Given the description of an element on the screen output the (x, y) to click on. 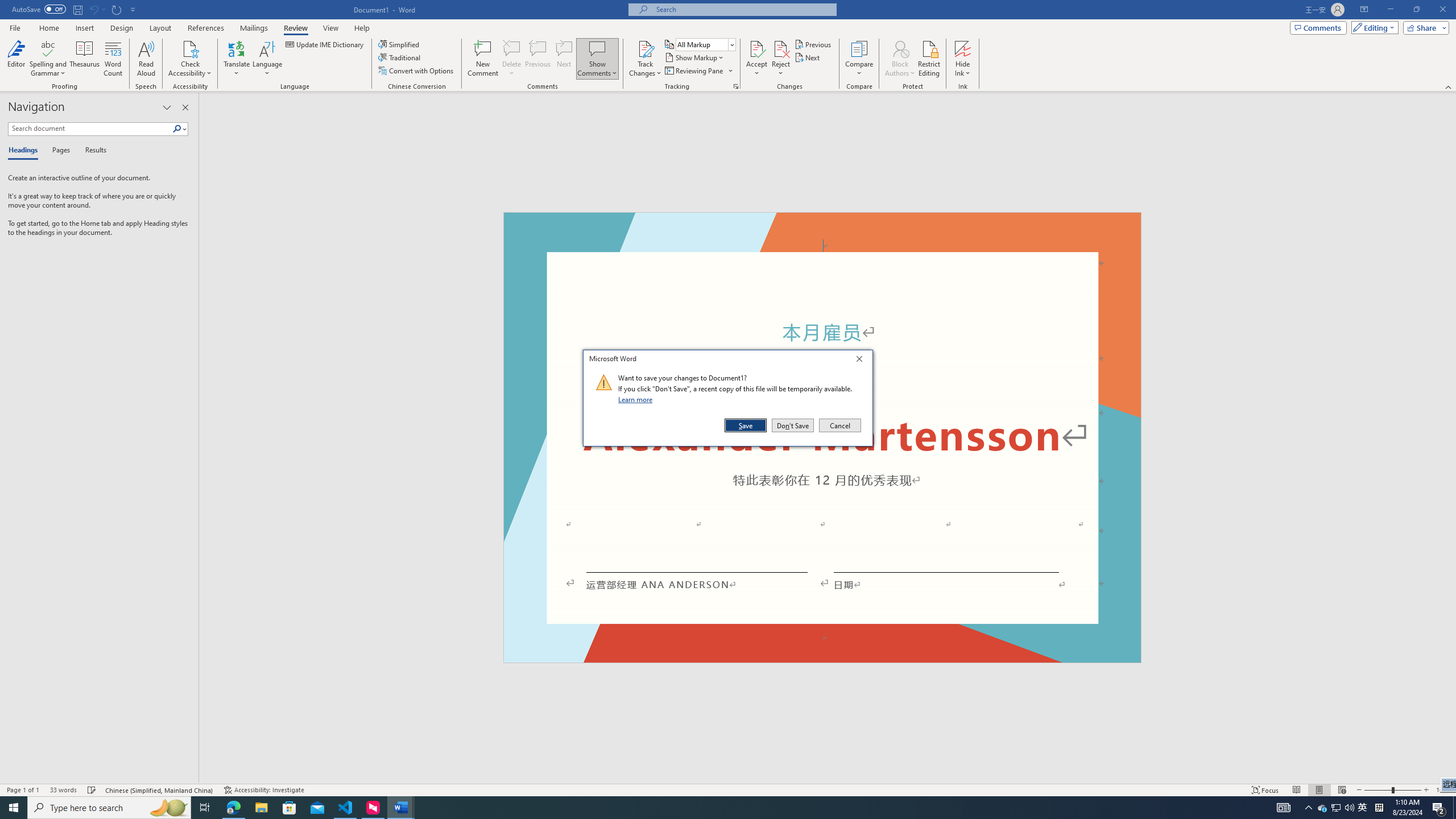
Reject and Move to Next (780, 48)
New Comment (482, 58)
Zoom 100% (1443, 790)
Track Changes (644, 48)
Accept and Move to Next (756, 48)
Don't Save (792, 425)
Reject (780, 58)
Read Aloud (145, 58)
